Given the description of an element on the screen output the (x, y) to click on. 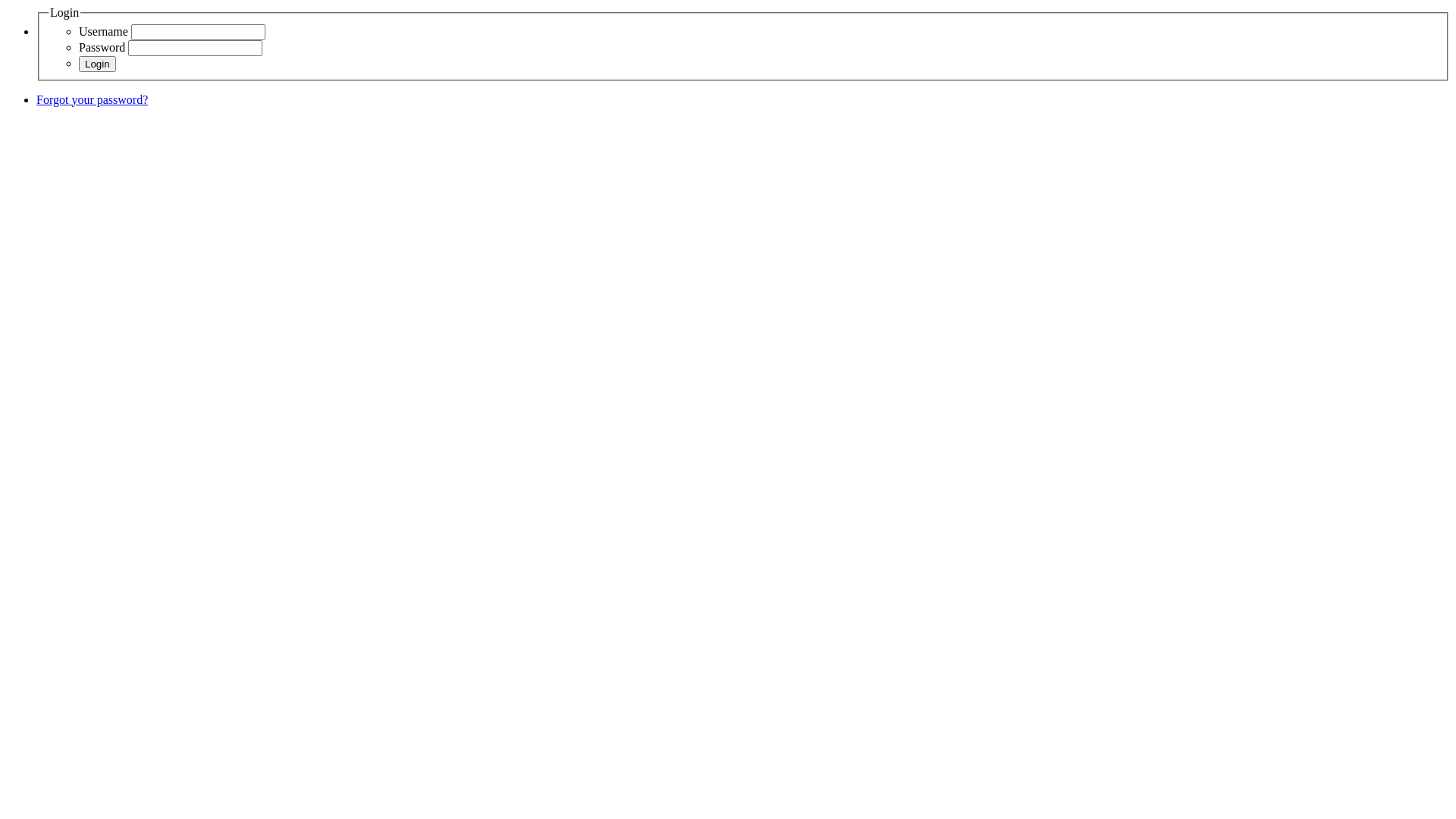
Login Element type: text (97, 64)
Forgot your password? Element type: text (91, 99)
